Given the description of an element on the screen output the (x, y) to click on. 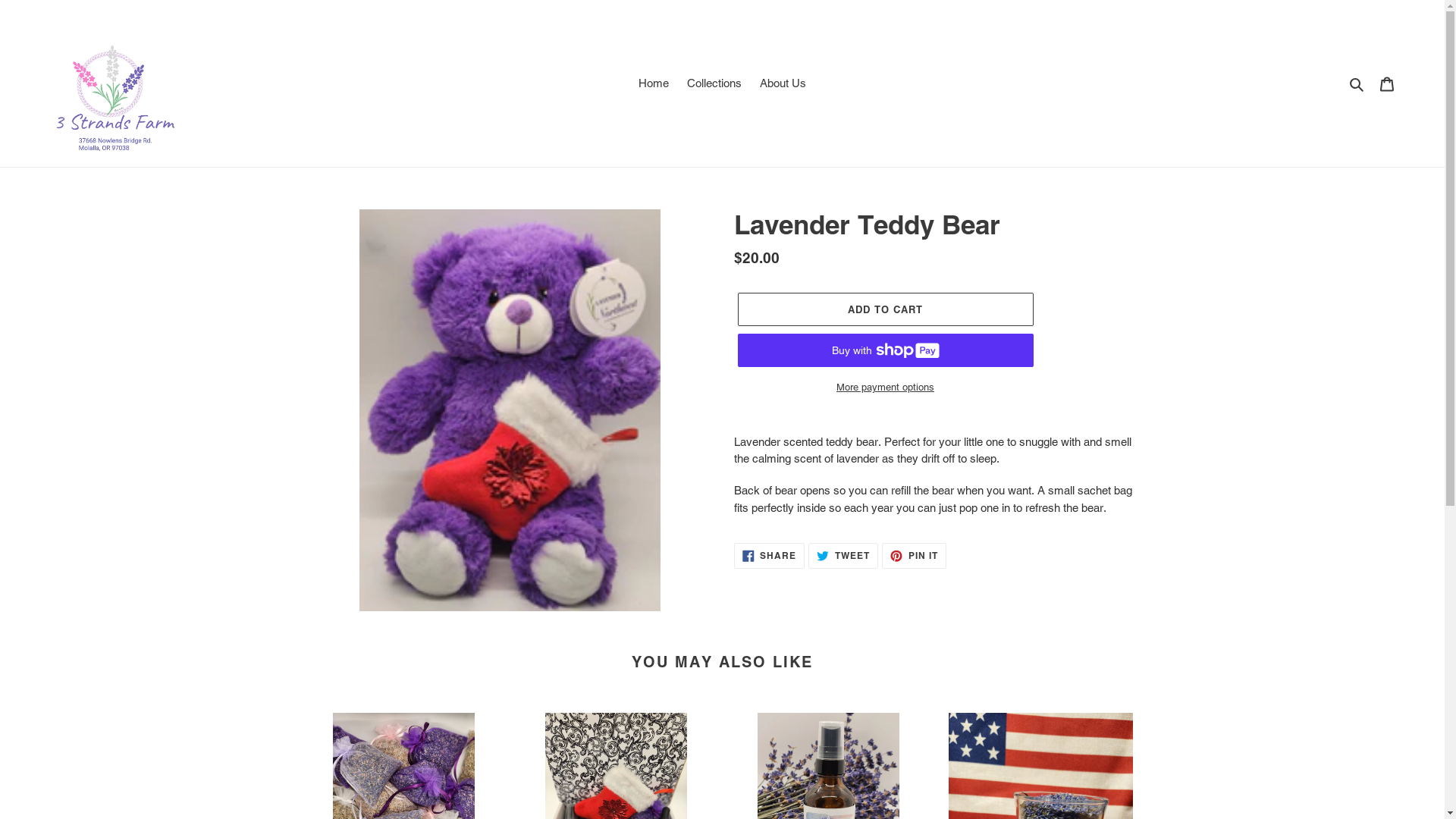
Collections Element type: text (714, 83)
Search Element type: text (1357, 83)
Cart Element type: text (1386, 83)
SHARE
SHARE ON FACEBOOK Element type: text (769, 555)
PIN IT
PIN ON PINTEREST Element type: text (913, 555)
ADD TO CART Element type: text (884, 309)
TWEET
TWEET ON TWITTER Element type: text (843, 555)
More payment options Element type: text (884, 387)
Home Element type: text (653, 83)
About Us Element type: text (782, 83)
